Given the description of an element on the screen output the (x, y) to click on. 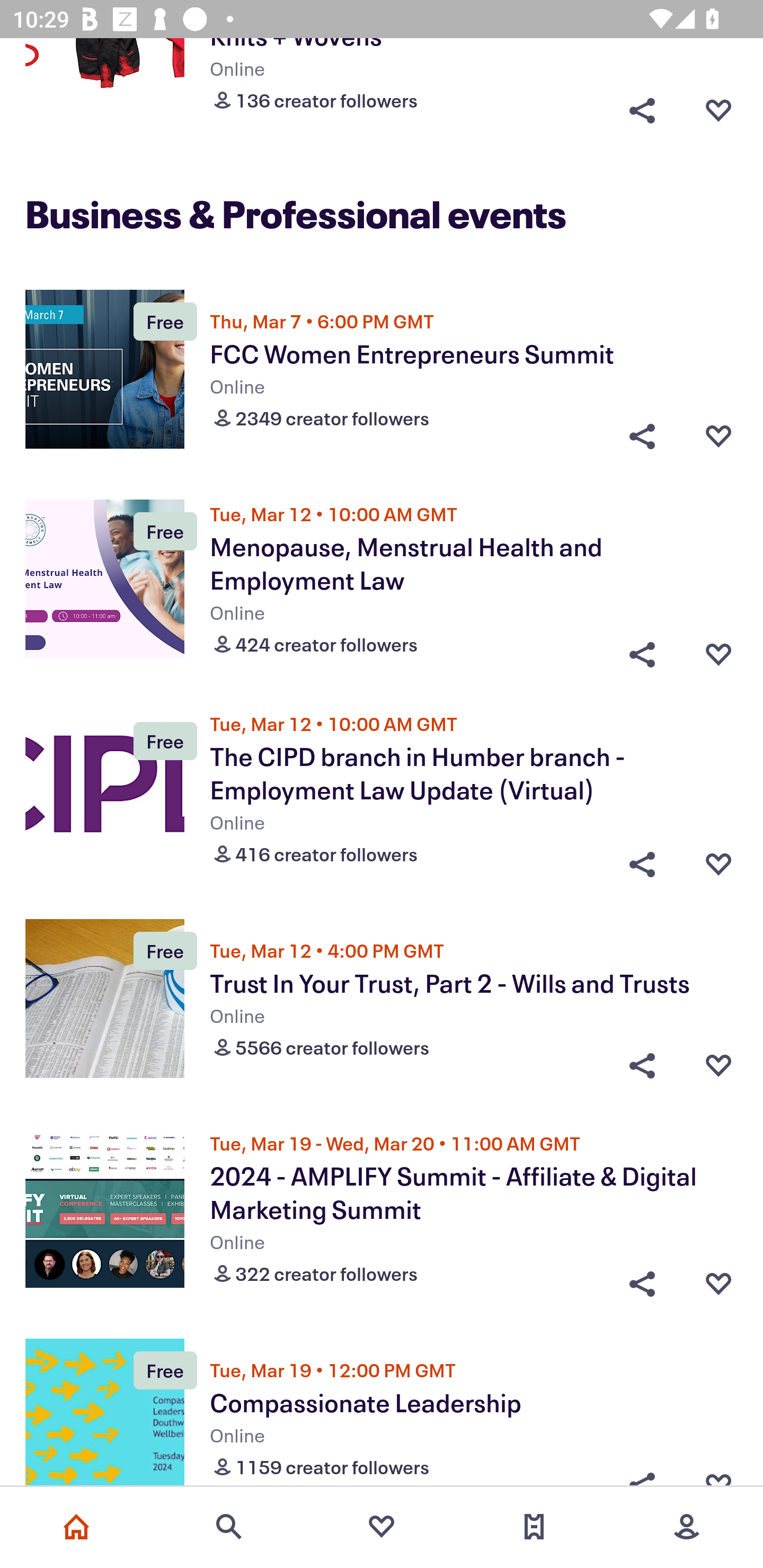
Share button (642, 105)
Favorite button (718, 105)
Share button (642, 435)
Favorite button (718, 435)
Share button (642, 649)
Favorite button (718, 649)
Share button (642, 859)
Favorite button (718, 859)
Share button (642, 1065)
Favorite button (718, 1065)
Share button (642, 1279)
Favorite button (718, 1279)
Home (76, 1526)
Search events (228, 1526)
Favorites (381, 1526)
Tickets (533, 1526)
More (686, 1526)
